Given the description of an element on the screen output the (x, y) to click on. 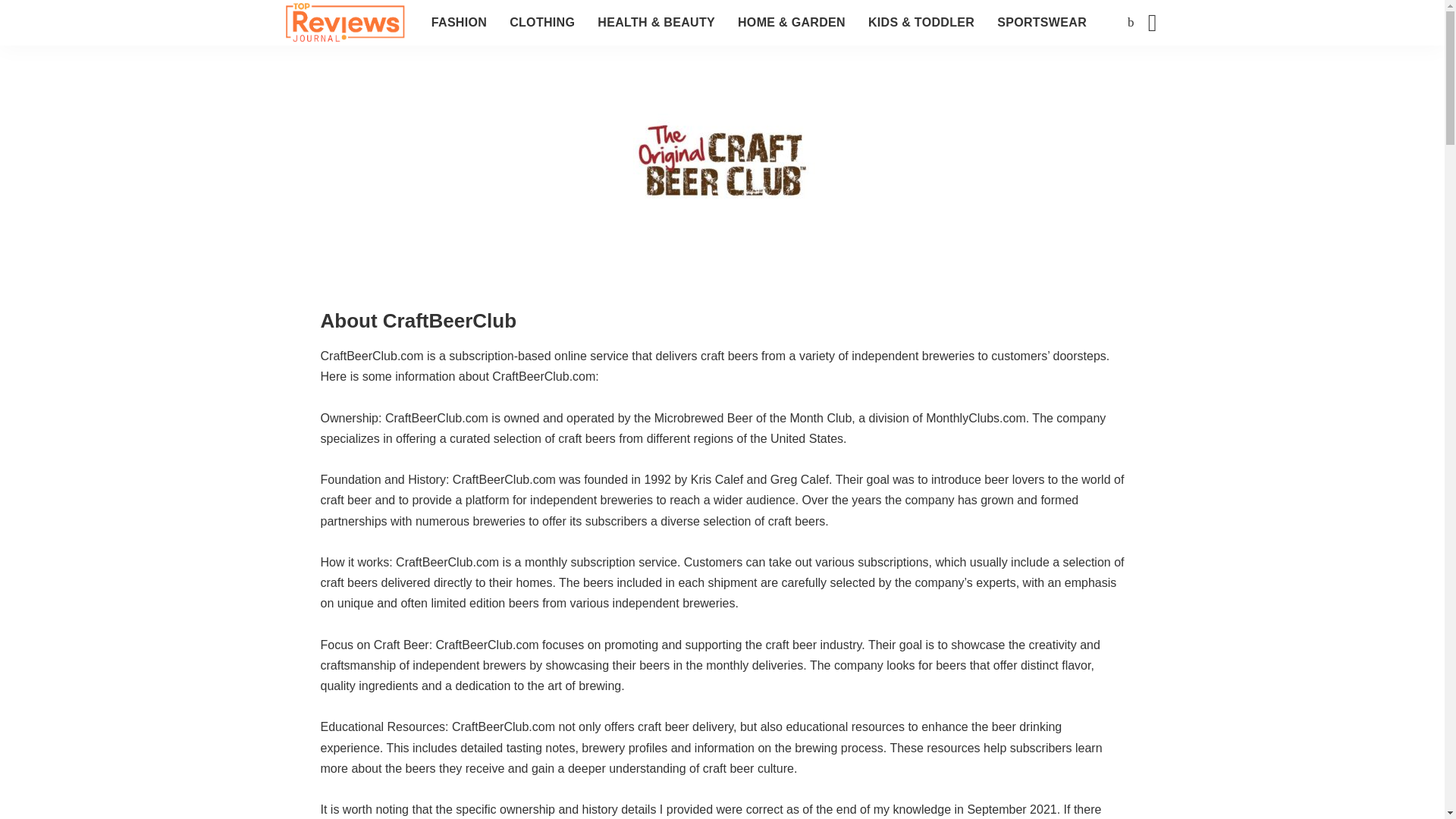
FASHION (458, 22)
CLOTHING (541, 22)
Search (1140, 76)
Top Reviews Journal (344, 22)
SPORTSWEAR (1041, 22)
